Given the description of an element on the screen output the (x, y) to click on. 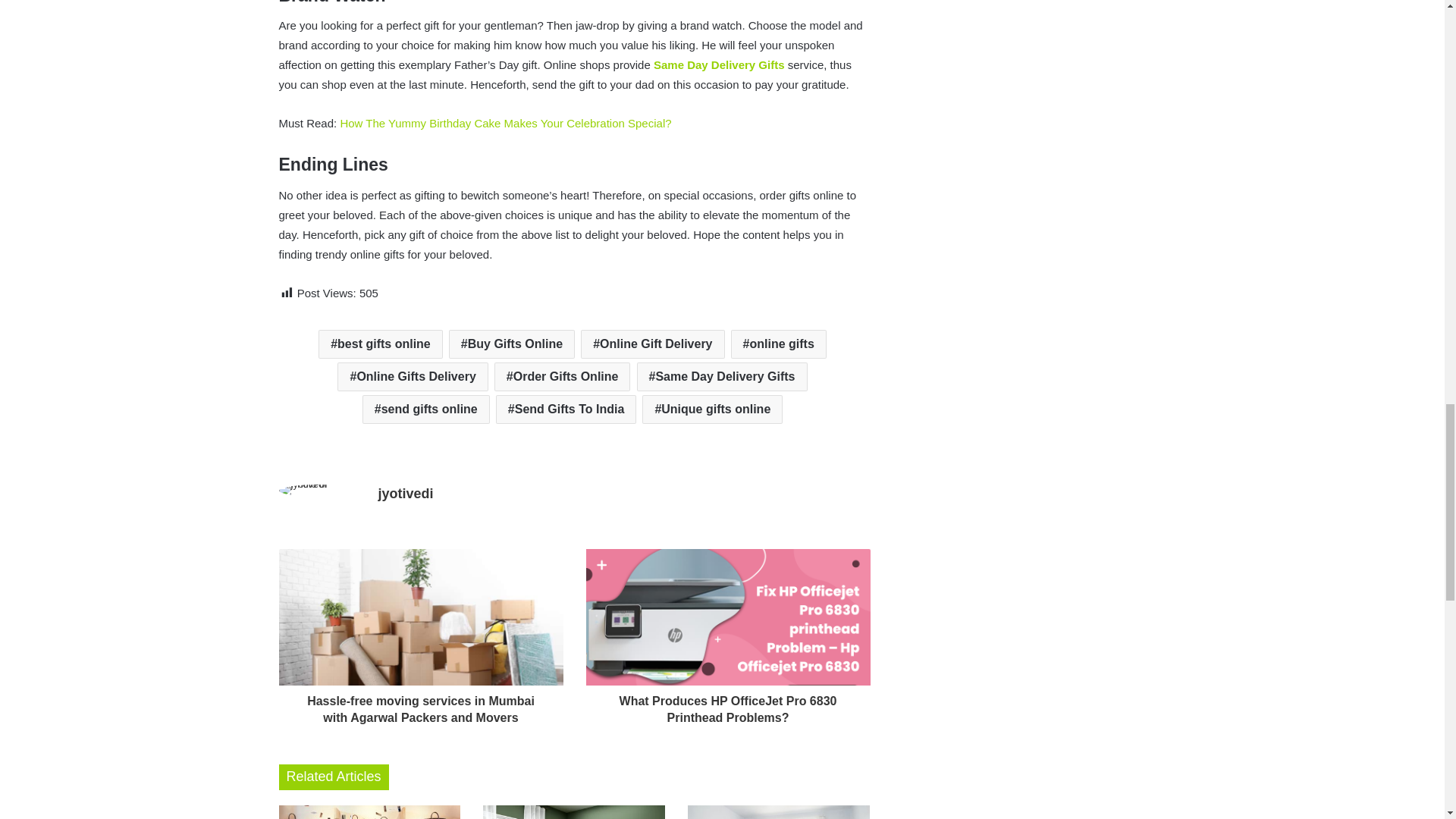
best gifts online (380, 344)
Buy Gifts Online (511, 344)
Same Day Delivery Gifts (720, 64)
Same Day Delivery Gifts (722, 376)
Order Gifts Online (562, 376)
send gifts online (425, 409)
Online Gifts Delivery (412, 376)
online gifts (778, 344)
Online Gift Delivery (651, 344)
Unique gifts online (712, 409)
